Given the description of an element on the screen output the (x, y) to click on. 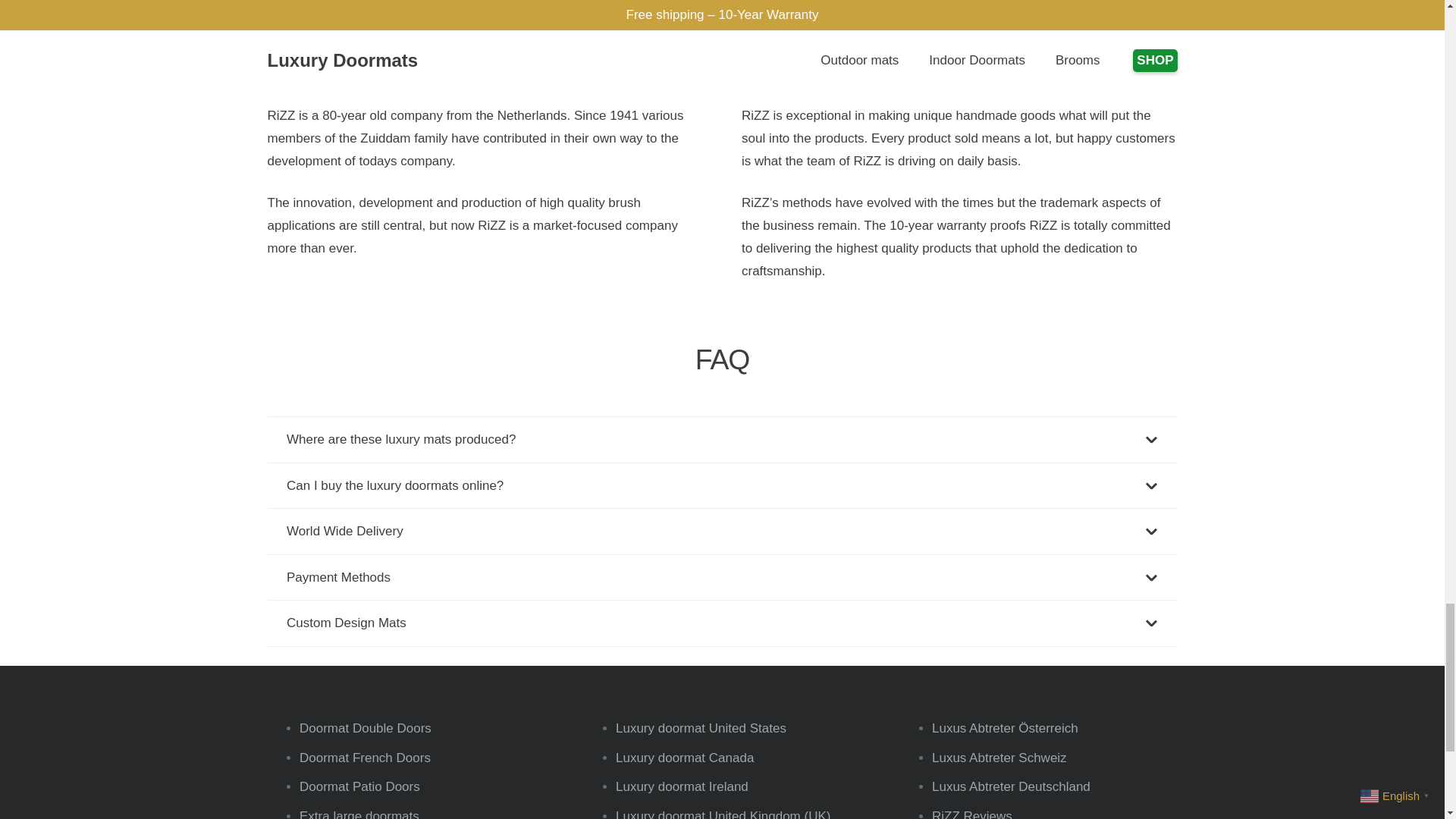
Doormat Patio Doors (359, 786)
Custom Design Mats (721, 623)
Luxury doormat Canada (684, 757)
Extra large doormats (359, 814)
World Wide Delivery (721, 531)
Can I buy the luxury doormats online? (721, 485)
Luxury doormat Ireland (681, 786)
Doormat French Doors (364, 757)
Where are these luxury mats produced? (721, 439)
